Given the description of an element on the screen output the (x, y) to click on. 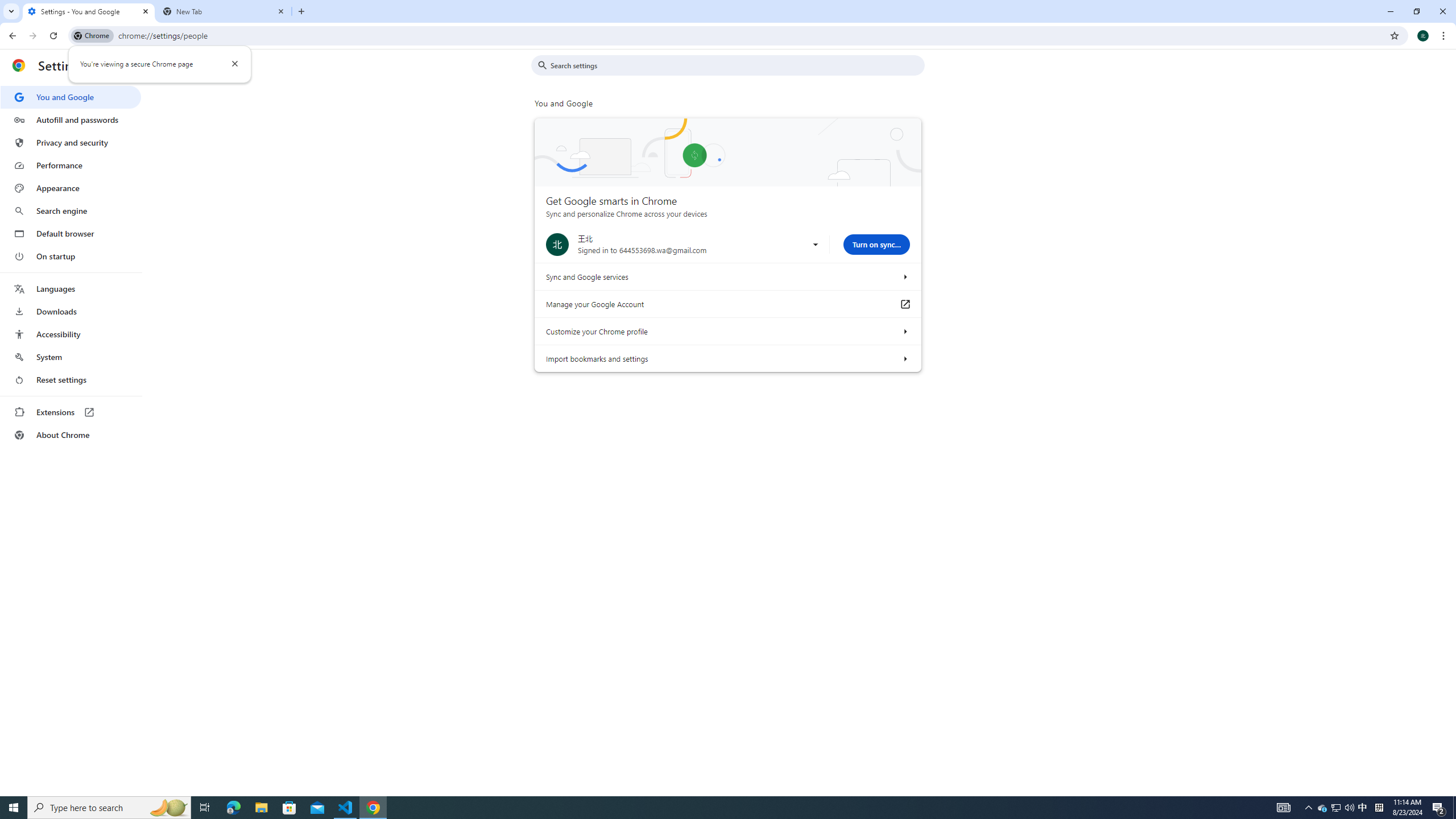
Visual Studio Code - 1 running window (345, 807)
Downloads (70, 311)
Microsoft Store (1335, 807)
Q2790: 100% (289, 807)
Notification Chevron (1349, 807)
User Promoted Notification Area (1308, 807)
Action Center, 2 new notifications (1336, 807)
Start (1439, 807)
